Given the description of an element on the screen output the (x, y) to click on. 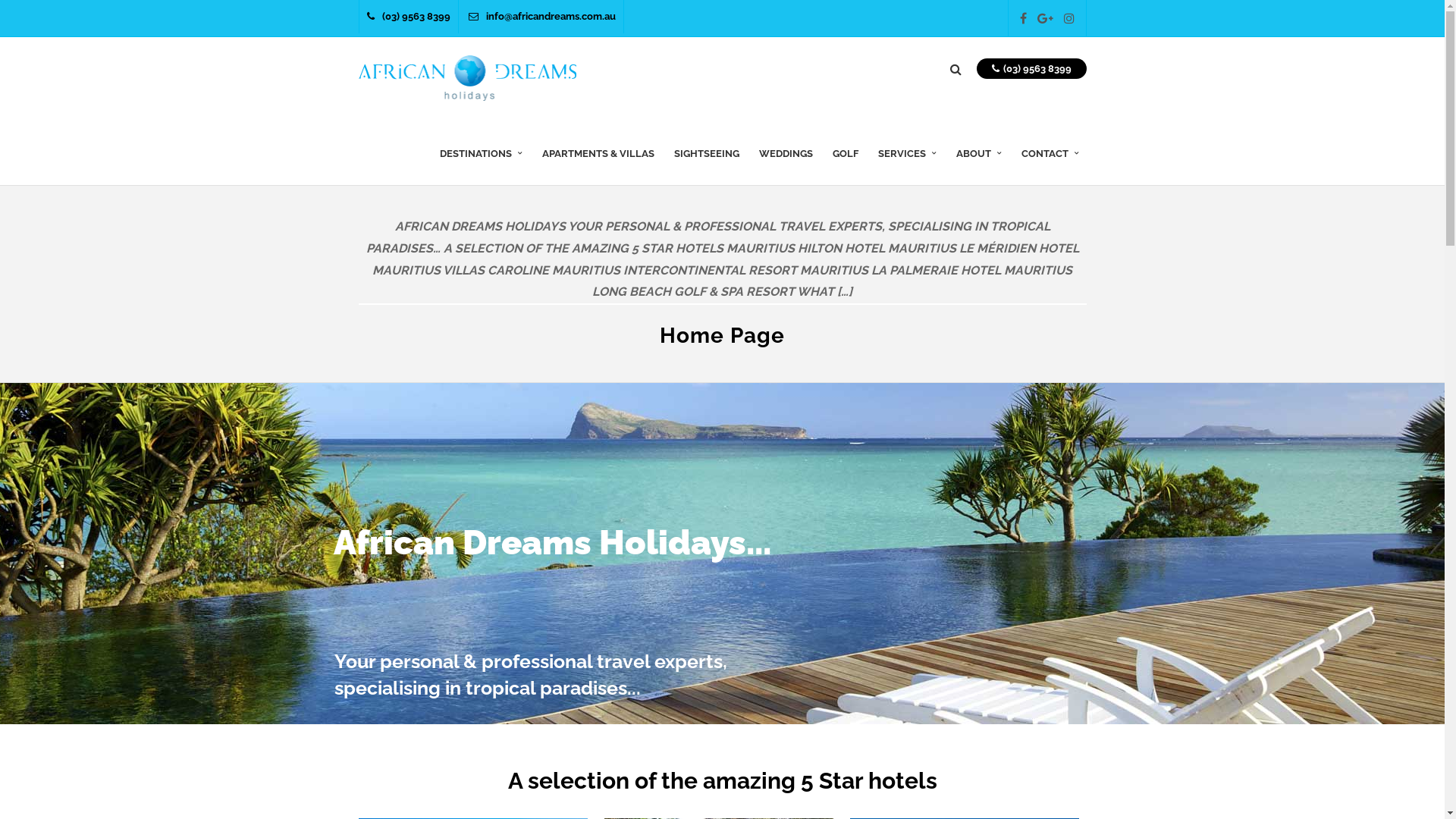
Google+ Element type: hover (1045, 17)
DESTINATIONS Element type: text (481, 164)
APARTMENTS & VILLAS Element type: text (597, 164)
SIGHTSEEING Element type: text (705, 164)
WEDDINGS Element type: text (784, 164)
CONTACT Element type: text (1049, 164)
(03) 9563 8399 Element type: text (408, 15)
GOLF Element type: text (845, 164)
SERVICES Element type: text (907, 164)
ABOUT Element type: text (977, 164)
Instagram Element type: hover (1068, 17)
info@africandreams.com.au Element type: text (541, 15)
